Given the description of an element on the screen output the (x, y) to click on. 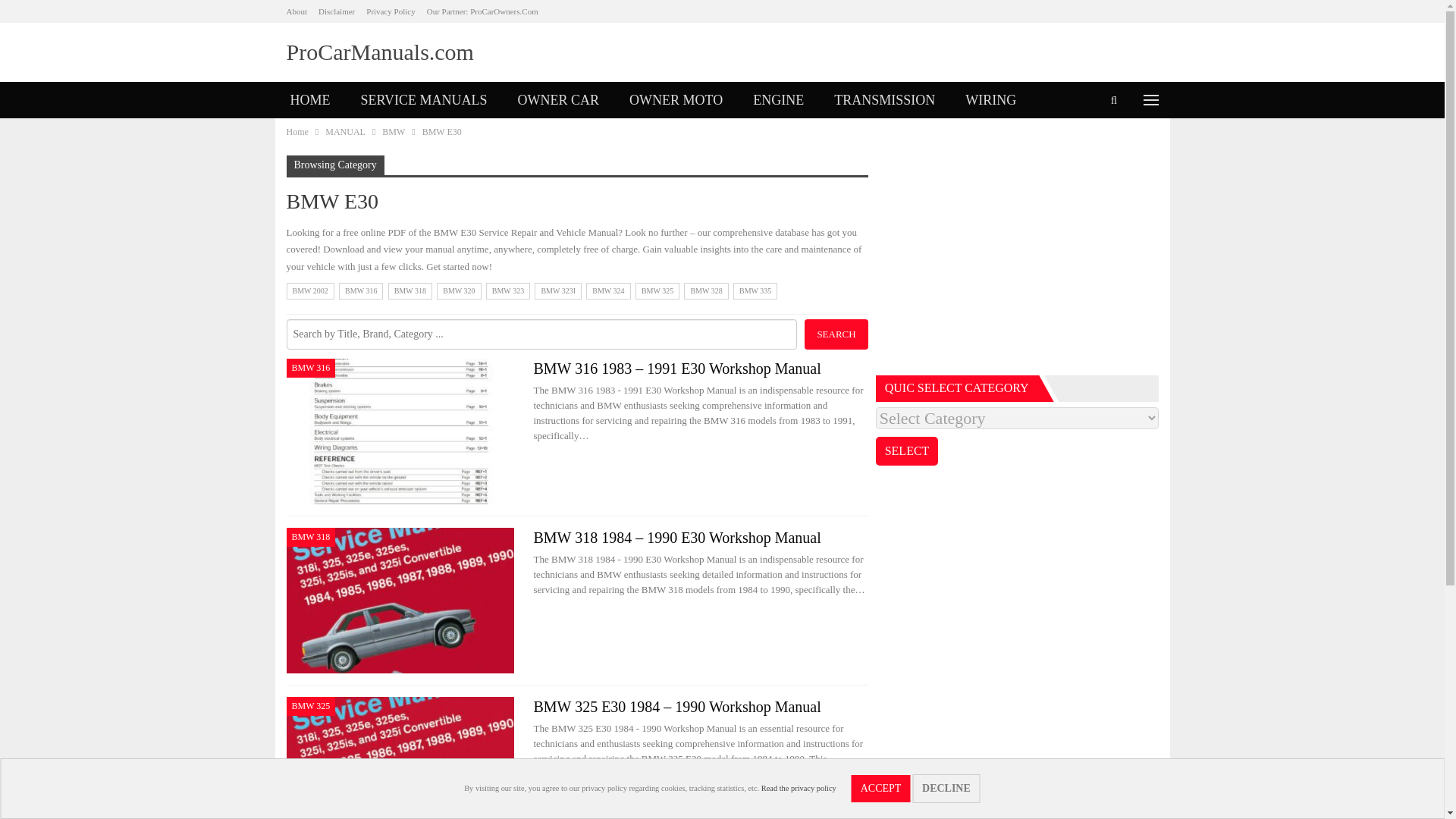
Advertisement (1017, 261)
BMW (392, 131)
BODY (309, 135)
BMW 318 (410, 290)
OWNER MOTO (676, 99)
ENGINE (778, 99)
VAG SSP (385, 135)
About (296, 10)
BMW 323 (507, 290)
Our Partner: ProCarOwners.Com (482, 10)
BMW 323I (557, 290)
SERVICE MANUALS (424, 99)
Read the privacy policy (798, 787)
ACCEPT (881, 788)
Disclaimer (336, 10)
